Given the description of an element on the screen output the (x, y) to click on. 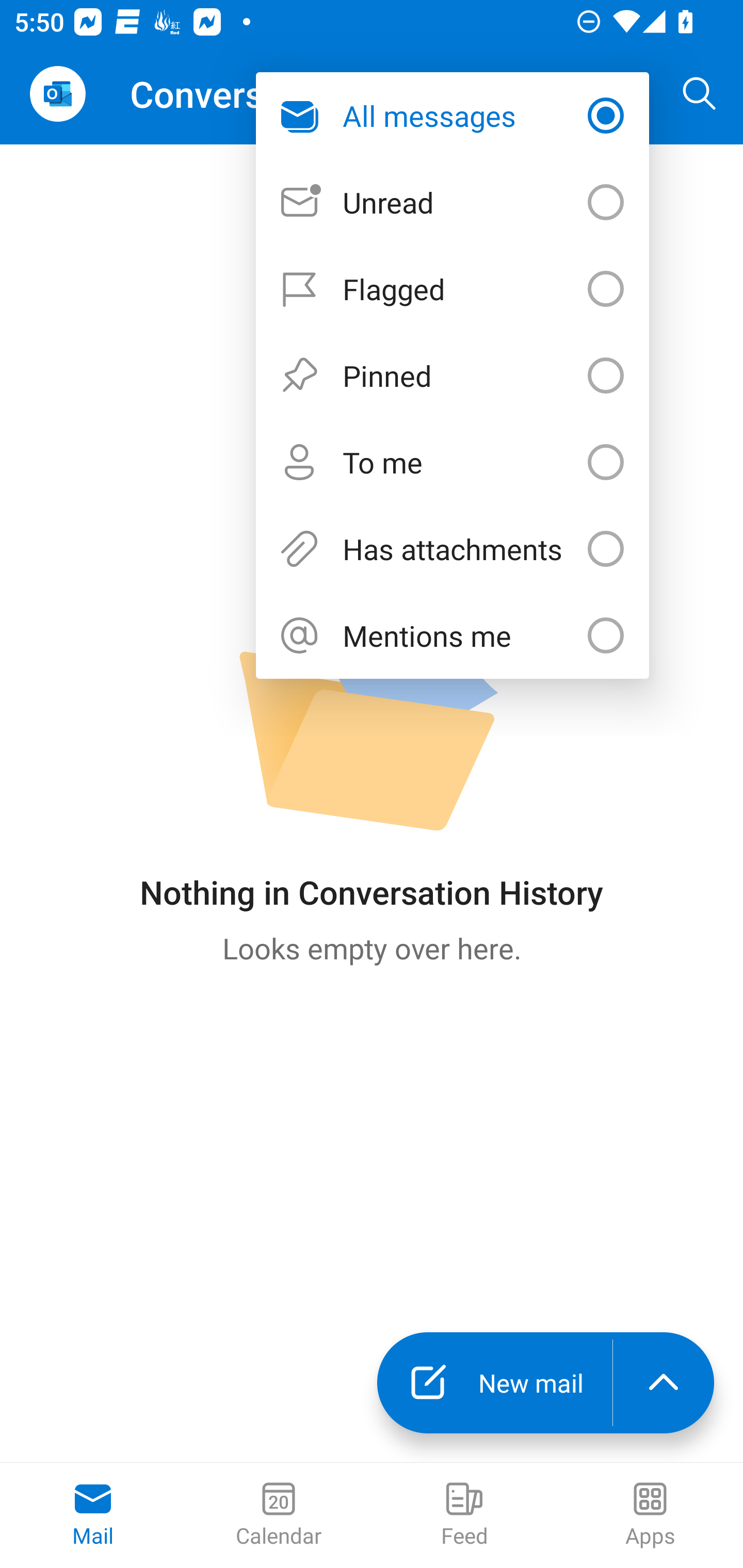
All messages (452, 115)
Unread (452, 202)
Flagged (452, 289)
Pinned (452, 375)
To me (452, 461)
Has attachments (452, 548)
Mentions me (452, 635)
